Given the description of an element on the screen output the (x, y) to click on. 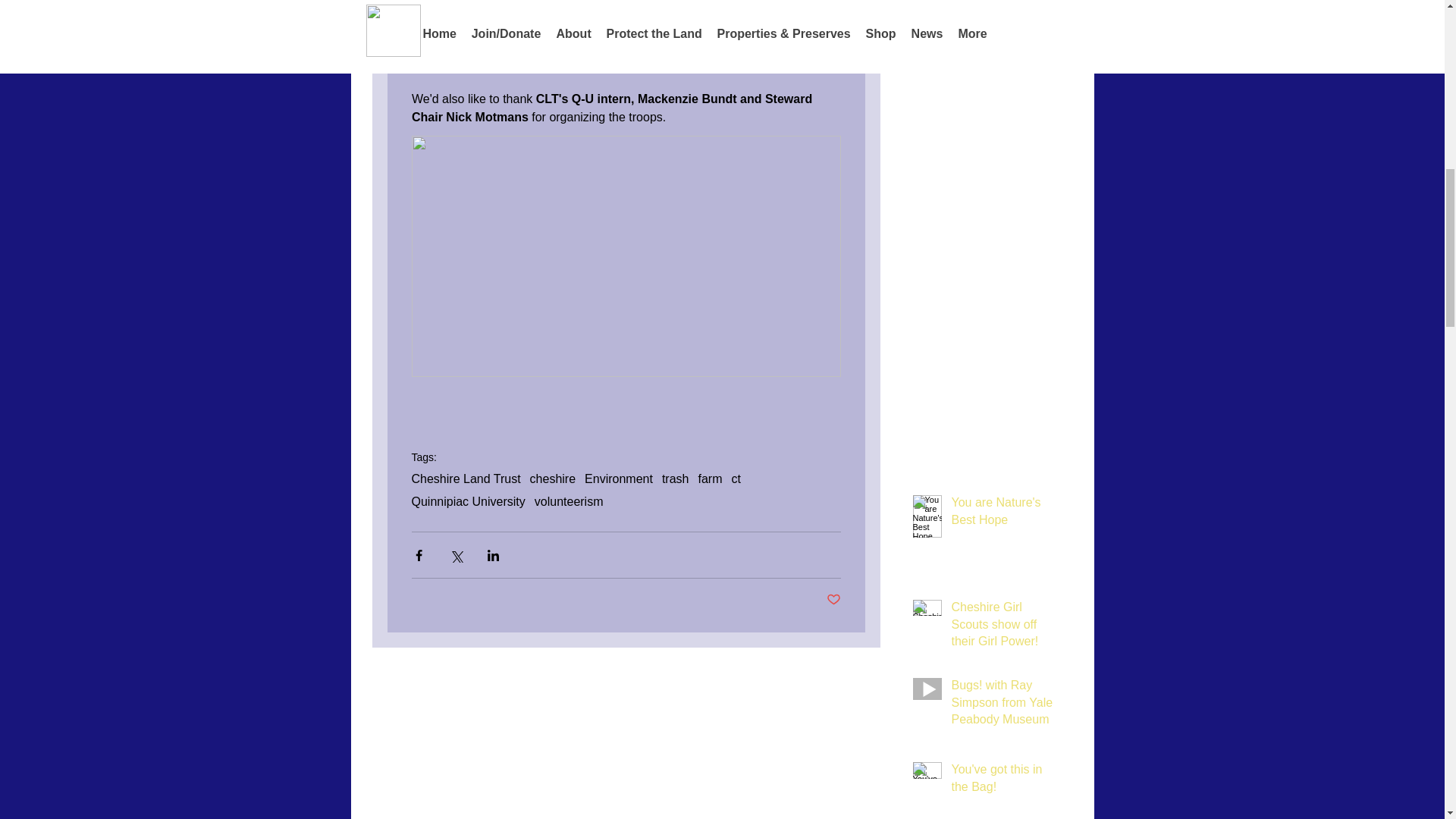
Cheshire Girl Scouts show off their Girl Power! (1004, 627)
farm (709, 479)
cheshire (552, 479)
You are Nature's Best Hope (1004, 514)
trash (675, 479)
You've got this in the Bag! (1004, 781)
Post not marked as liked (834, 600)
Environment (618, 479)
volunteerism (569, 501)
Cheshire Land Trust (464, 479)
Bugs! with Ray Simpson from Yale Peabody Museum (1004, 705)
Quinnipiac University (467, 501)
